Given the description of an element on the screen output the (x, y) to click on. 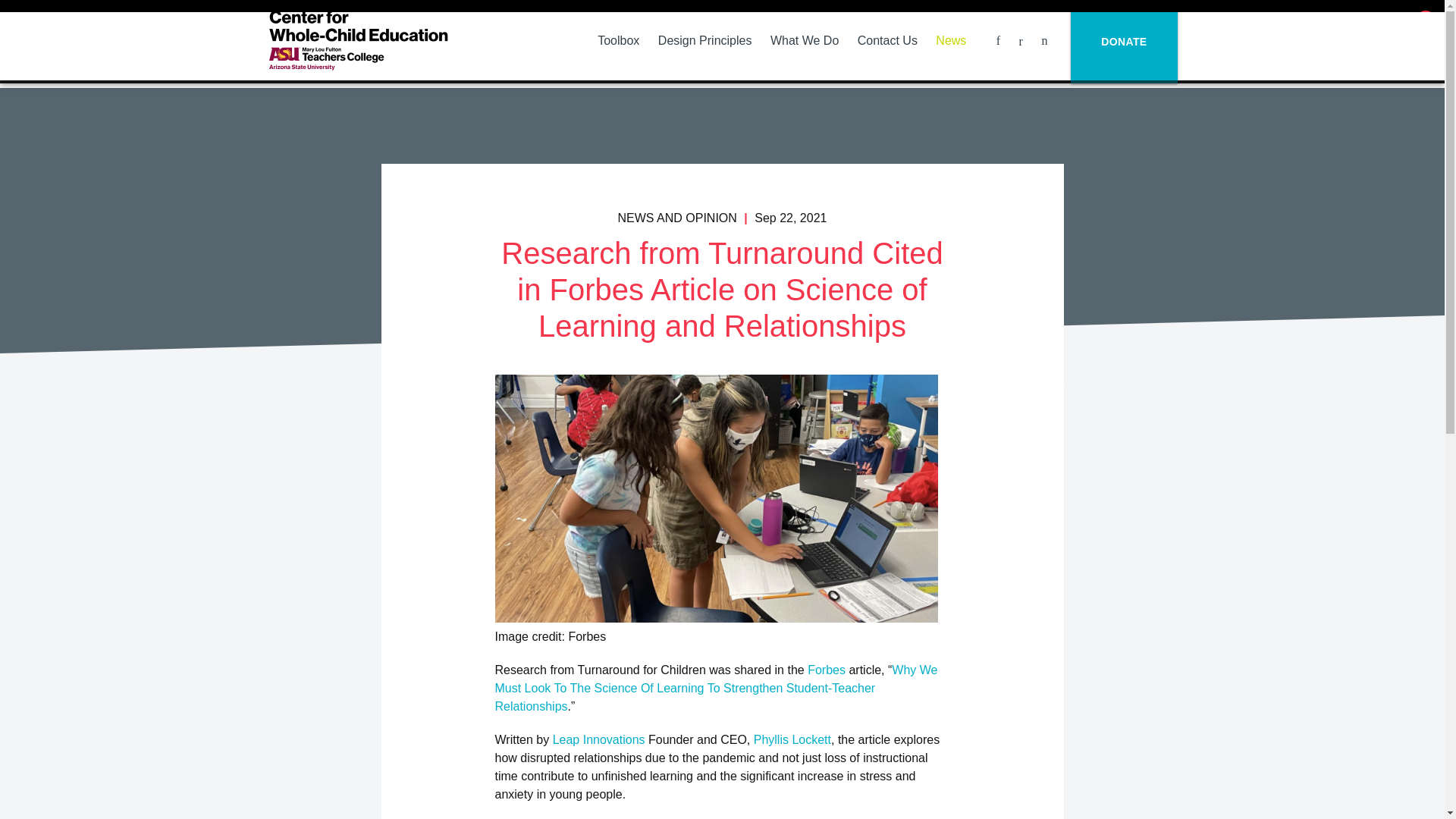
Toolbox (617, 40)
Turnaround For Children (357, 39)
What We Do (803, 40)
Contact Us (886, 40)
News (951, 40)
DONATE (1123, 41)
Design Principles (703, 40)
